Given the description of an element on the screen output the (x, y) to click on. 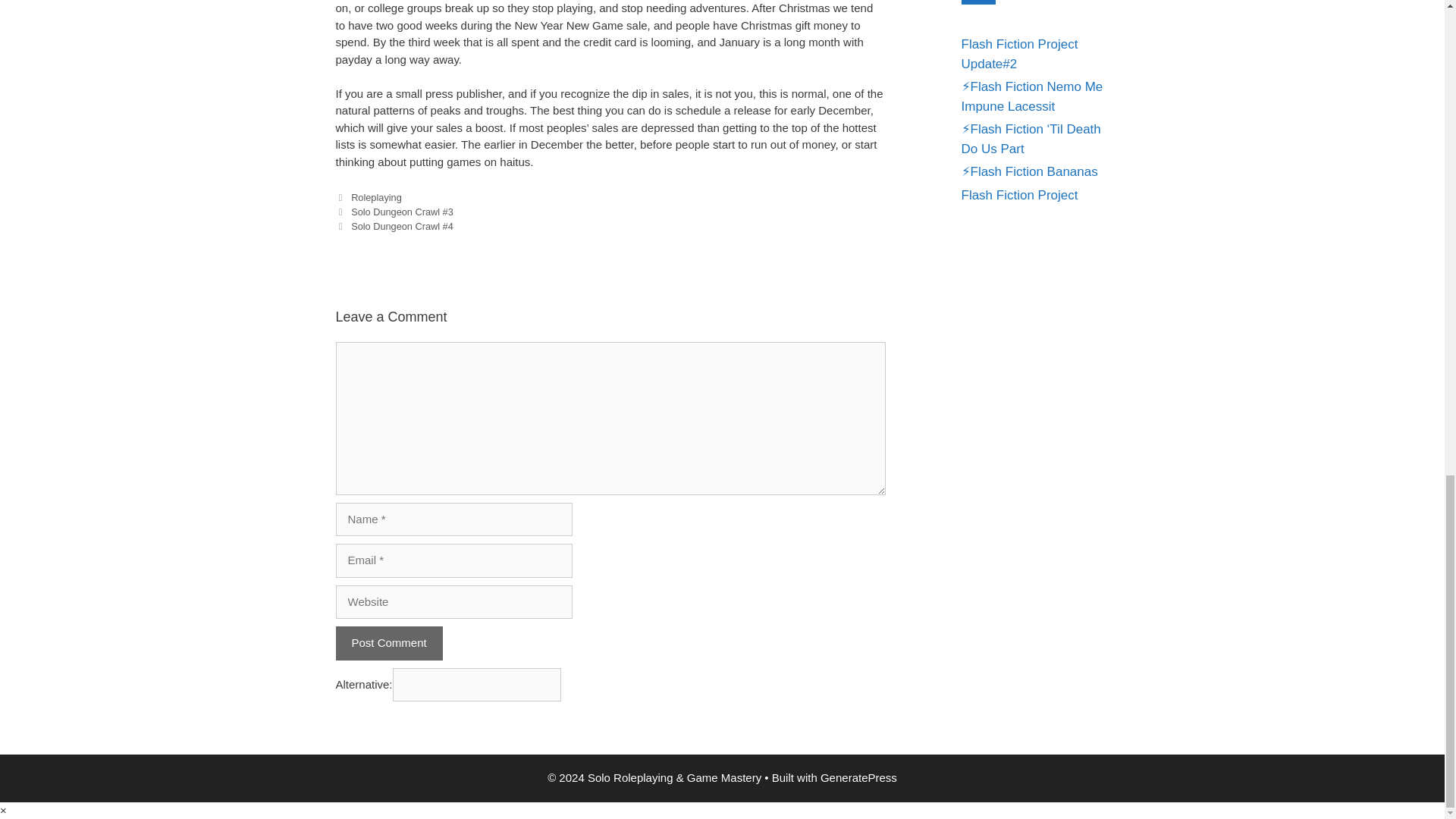
Join (977, 2)
Flash Fiction Project (1019, 195)
Post Comment (388, 643)
Join (977, 2)
Post Comment (388, 643)
GeneratePress (858, 777)
Roleplaying (375, 197)
